Given the description of an element on the screen output the (x, y) to click on. 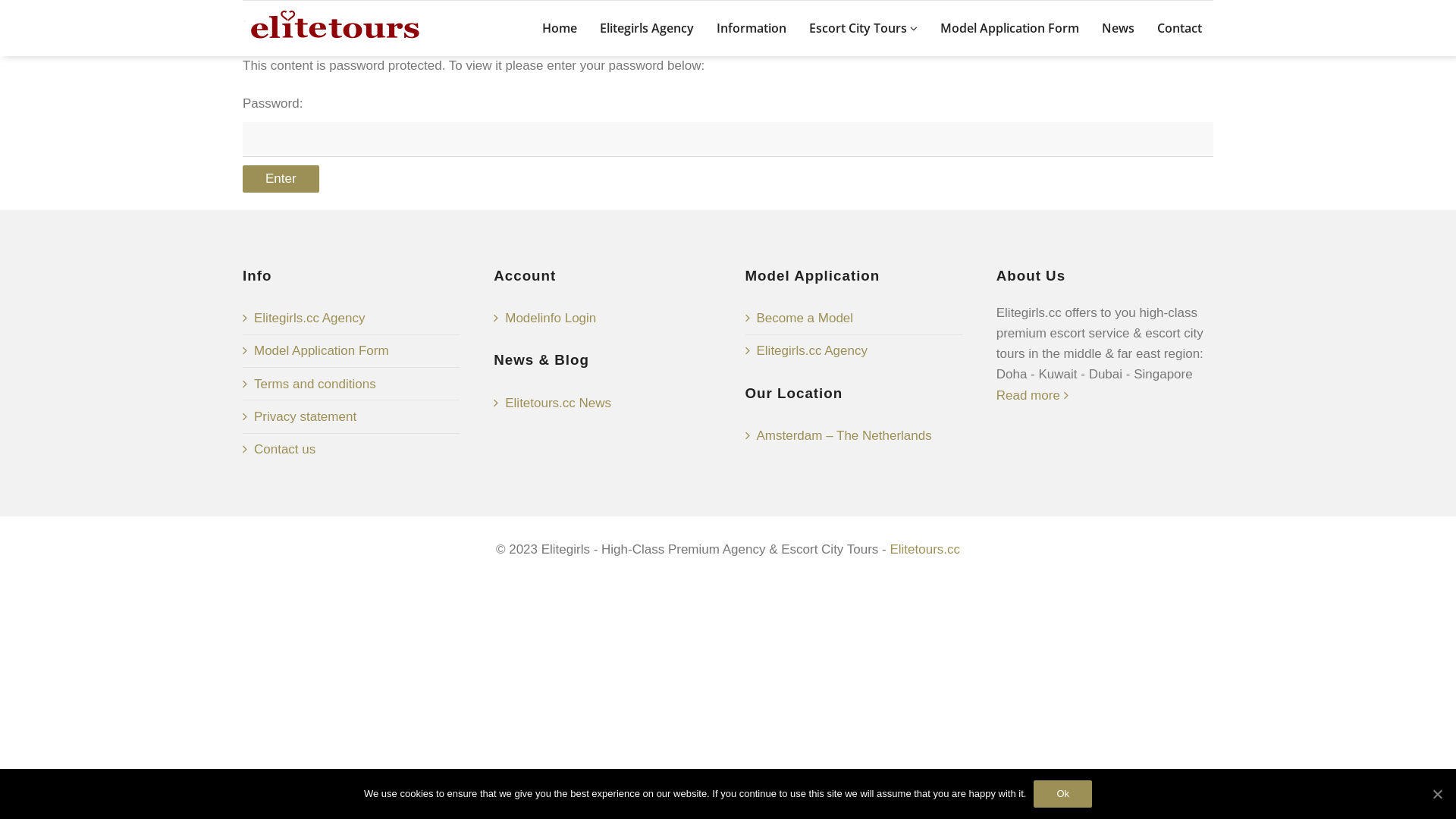
Contact Element type: text (1179, 28)
Elitetours.cc Element type: text (924, 549)
Elitegirls Agency Element type: text (646, 28)
Read more Element type: text (1032, 395)
Become a Model Element type: text (852, 318)
Model Application Form Element type: text (350, 351)
Model Application Form Element type: text (1009, 28)
Contact us Element type: text (350, 449)
Home Element type: text (559, 28)
Ok Element type: text (1062, 793)
Modelinfo Login Element type: text (601, 318)
Elitegirls.cc Agency Element type: text (350, 318)
Information Element type: text (751, 28)
News Element type: text (1117, 28)
Elitegirls.cc Agency Element type: text (852, 351)
Privacy statement Element type: text (350, 416)
Enter Element type: text (280, 178)
Elitetours.cc News Element type: text (601, 402)
Terms and conditions Element type: text (350, 383)
Escort City Tours Element type: text (862, 28)
